Given the description of an element on the screen output the (x, y) to click on. 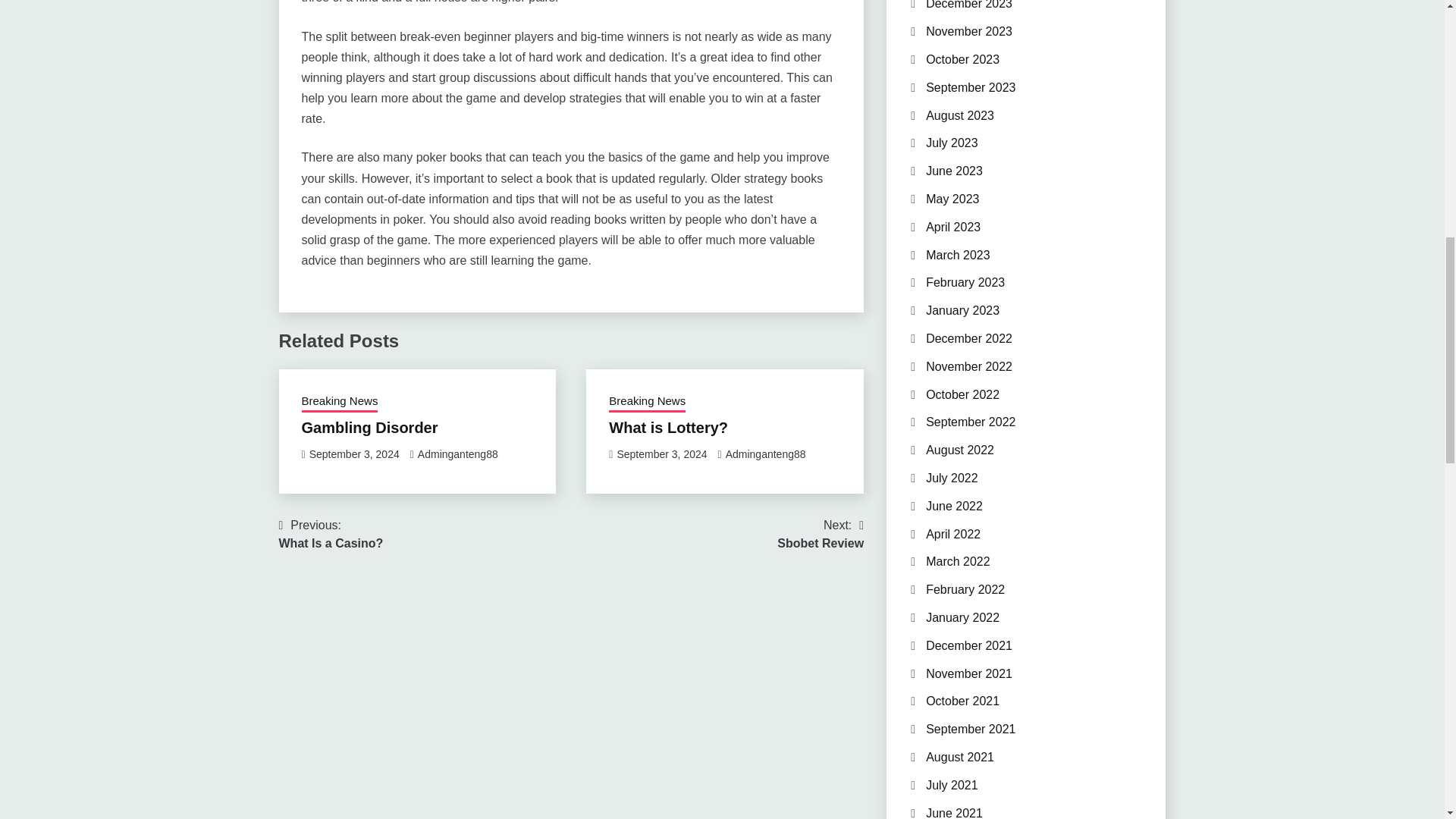
Adminganteng88 (331, 534)
September 3, 2024 (457, 453)
Adminganteng88 (353, 453)
What is Lottery? (820, 534)
Breaking News (765, 453)
December 2023 (668, 427)
September 3, 2024 (339, 402)
Breaking News (968, 4)
